Given the description of an element on the screen output the (x, y) to click on. 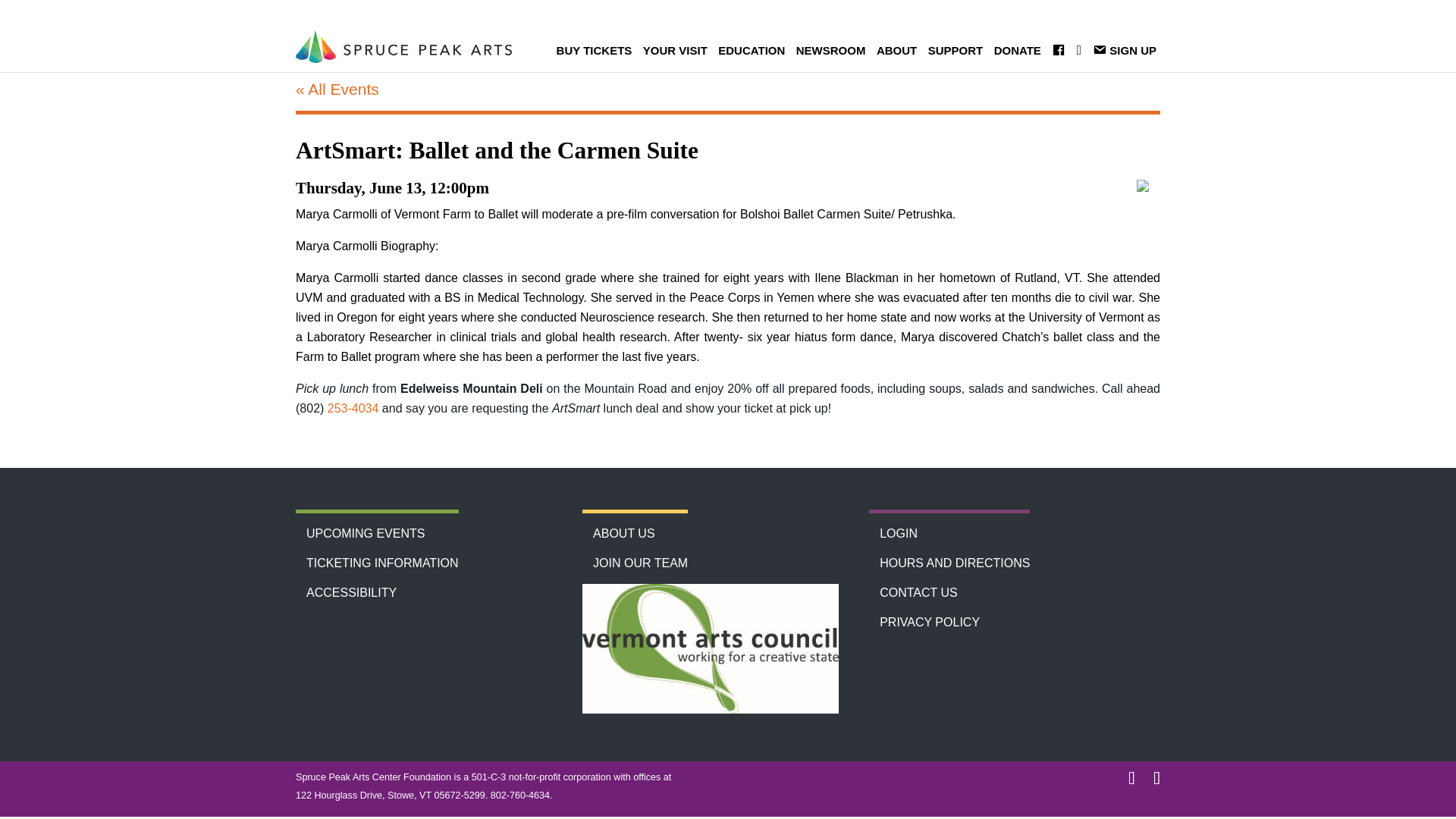
NEWSROOM (830, 50)
ABOUT (896, 50)
YOUR VISIT (675, 50)
SUPPORT (955, 50)
DONATE (1017, 50)
EDUCATION (751, 50)
BUY TICKETS (594, 50)
SIGN UP (1124, 51)
